Given the description of an element on the screen output the (x, y) to click on. 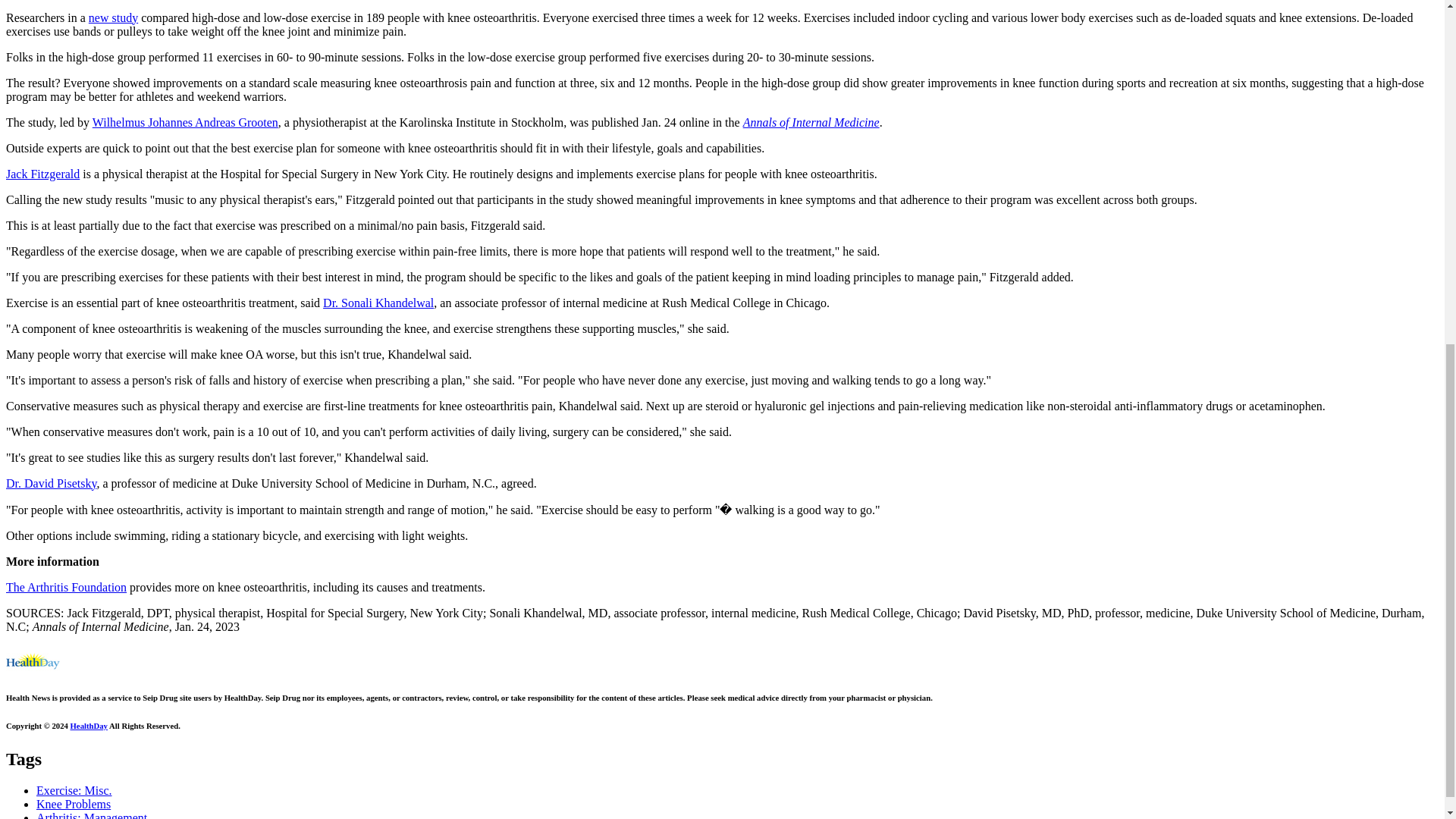
Knee Problems (73, 803)
HealthDay (88, 725)
Annals of Internal Medicine (810, 122)
Jack Fitzgerald (42, 173)
new study (113, 17)
Dr. Sonali Khandelwal (378, 302)
Dr. David Pisetsky (50, 482)
Exercise: Misc. (74, 789)
The Arthritis Foundation (65, 586)
Wilhelmus Johannes Andreas Grooten (185, 122)
